Given the description of an element on the screen output the (x, y) to click on. 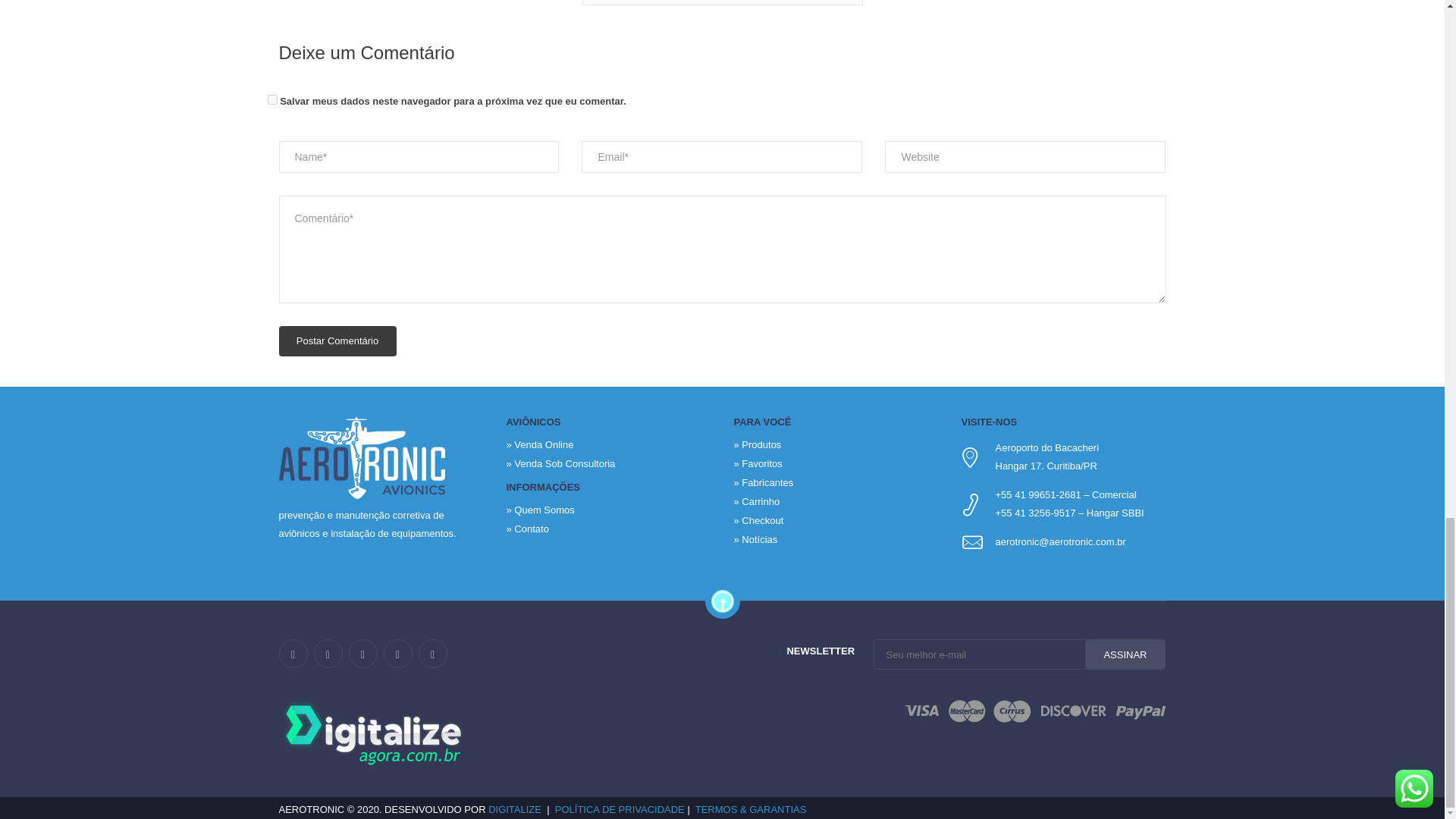
ASSINAR (1124, 654)
yes (271, 99)
